Given the description of an element on the screen output the (x, y) to click on. 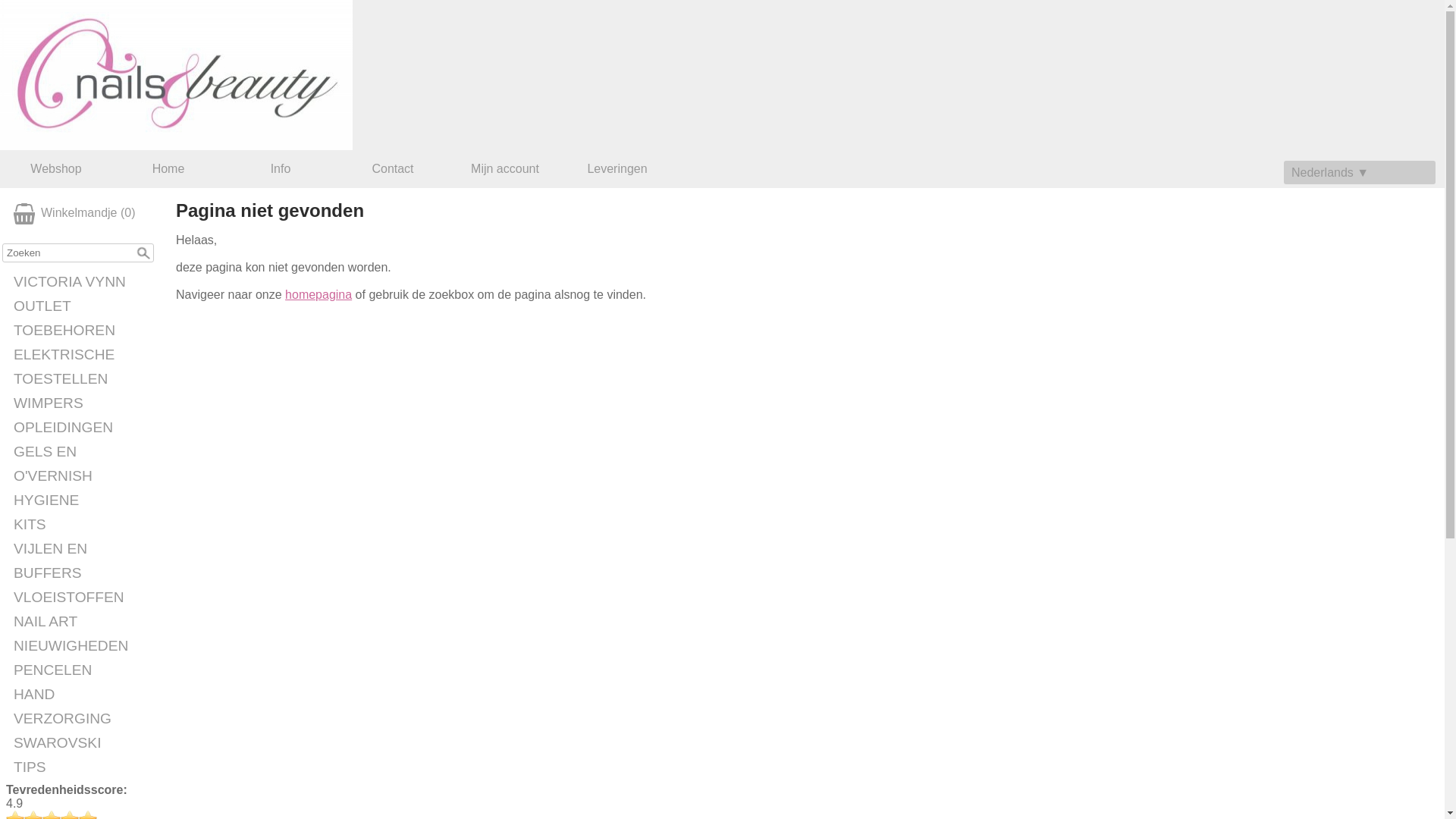
Leveringen Element type: text (616, 168)
TOEBEHOREN Element type: text (81, 330)
NAIL ART Element type: text (81, 621)
KITS Element type: text (81, 524)
homepagina Element type: text (318, 294)
SWAROVSKI Element type: text (81, 743)
VLOEISTOFFEN Element type: text (81, 597)
HYGIENE Element type: text (81, 500)
OUTLET Element type: text (81, 306)
ELEKTRISCHE TOESTELLEN Element type: text (81, 366)
OPLEIDINGEN Element type: text (81, 427)
VIJLEN EN BUFFERS Element type: text (81, 560)
Info Element type: text (280, 168)
Home Element type: text (168, 168)
Webshop Element type: text (55, 168)
VICTORIA VYNN Element type: text (81, 281)
WinkelmandjeWinkelmandje (0) Element type: text (81, 213)
PENCELEN Element type: text (81, 670)
Mijn account Element type: text (504, 168)
WIMPERS Element type: text (81, 403)
GELS EN O'VERNISH Element type: text (81, 463)
TIPS Element type: text (81, 767)
HAND VERZORGING Element type: text (81, 706)
NIEUWIGHEDEN Element type: text (81, 645)
Contact Element type: text (392, 168)
